Given the description of an element on the screen output the (x, y) to click on. 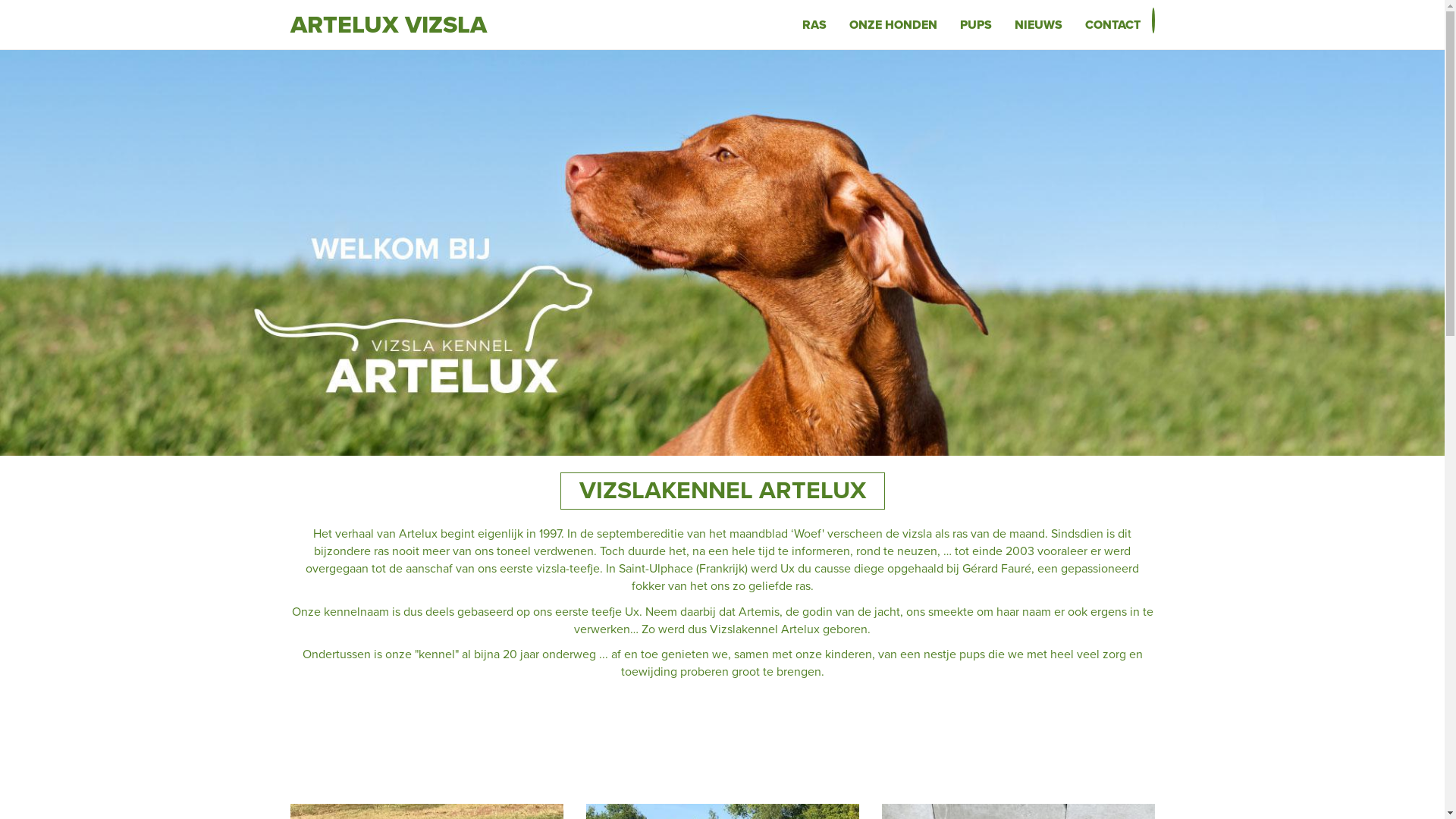
  Element type: text (1152, 20)
ARTELUX VIZSLA Element type: text (388, 18)
RAS Element type: text (813, 24)
NIEUWS Element type: text (1037, 24)
ONZE HONDEN Element type: text (892, 24)
CONTACT Element type: text (1112, 24)
PUPS Element type: text (974, 24)
Overslaan en naar de inhoud gaan Element type: text (0, 48)
